Given the description of an element on the screen output the (x, y) to click on. 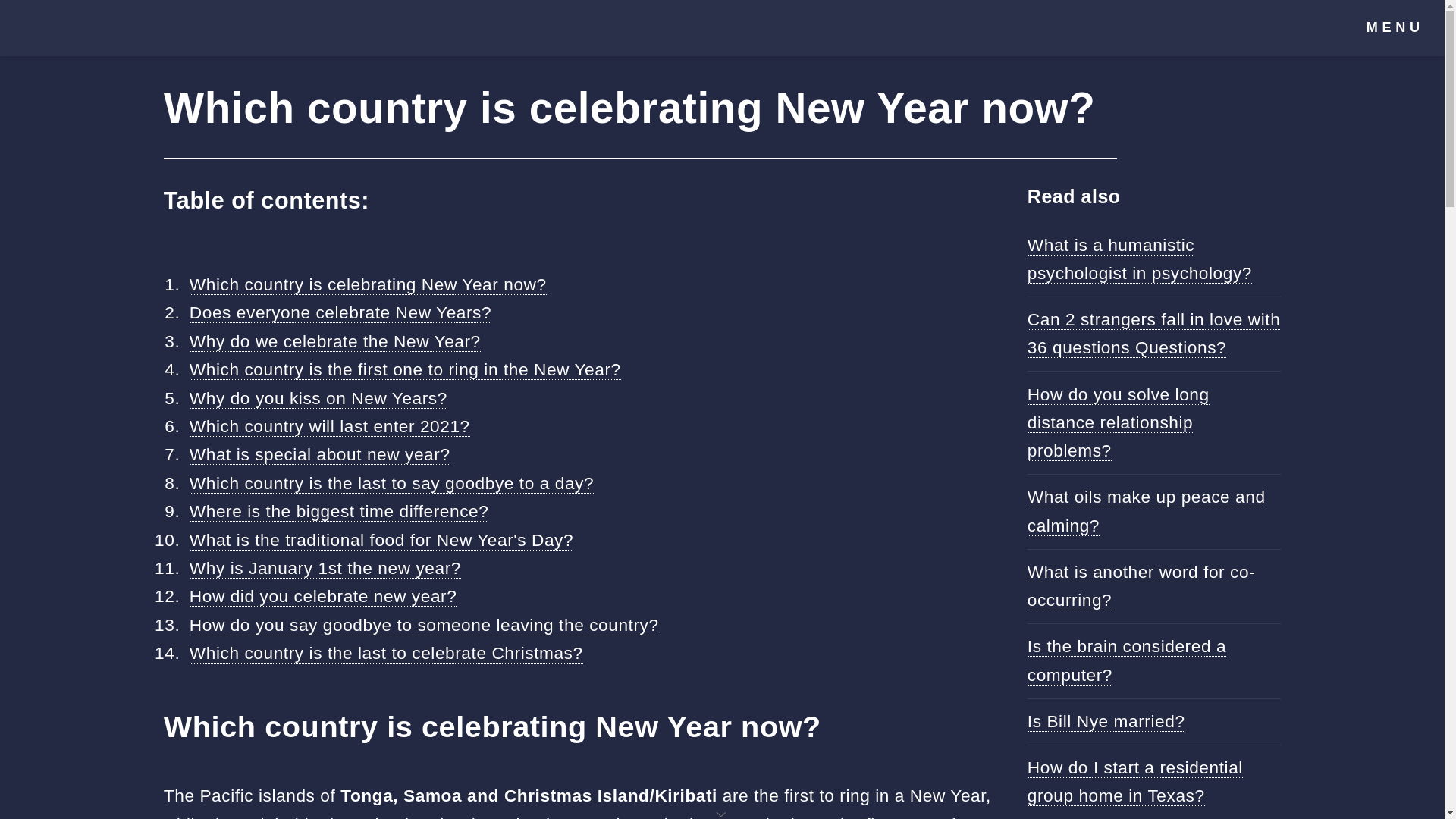
What is the traditional food for New Year's Day? (381, 539)
What is another word for co-occurring? (1141, 585)
Why do you kiss on New Years? (317, 398)
How do you say goodbye to someone leaving the country? (424, 625)
Is Bill Nye married? (1106, 721)
Why is January 1st the new year? (325, 567)
Where is the biggest time difference? (339, 511)
Which country is the last to say goodbye to a day? (391, 483)
Is the brain considered a computer? (1126, 660)
What oils make up peace and calming? (1146, 510)
What is a humanistic psychologist in psychology? (1139, 259)
How did you celebrate new year? (323, 596)
Why do we celebrate the New Year? (334, 341)
Can 2 strangers fall in love with 36 questions Questions? (1154, 333)
What is special about new year? (319, 454)
